Given the description of an element on the screen output the (x, y) to click on. 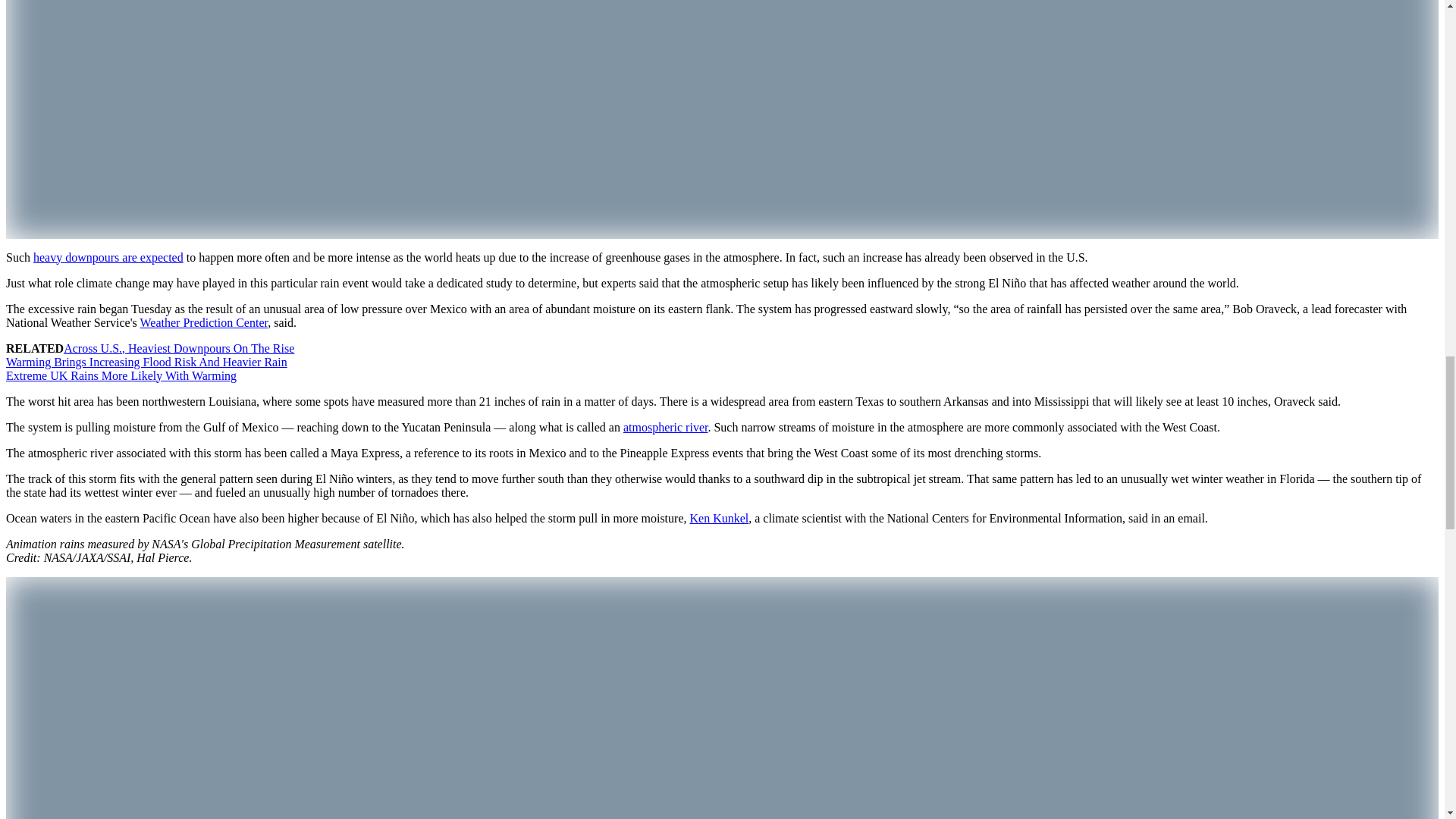
heavy downpours are expected (108, 256)
Extreme UK Rains More Likely With Warming (120, 375)
Warming Brings Increasing Flood Risk And Heavier Rain (145, 361)
Across U.S., Heaviest Downpours On The Rise (179, 348)
Weather Prediction Center (203, 322)
atmospheric river (665, 427)
Ken Kunkel (718, 517)
